Given the description of an element on the screen output the (x, y) to click on. 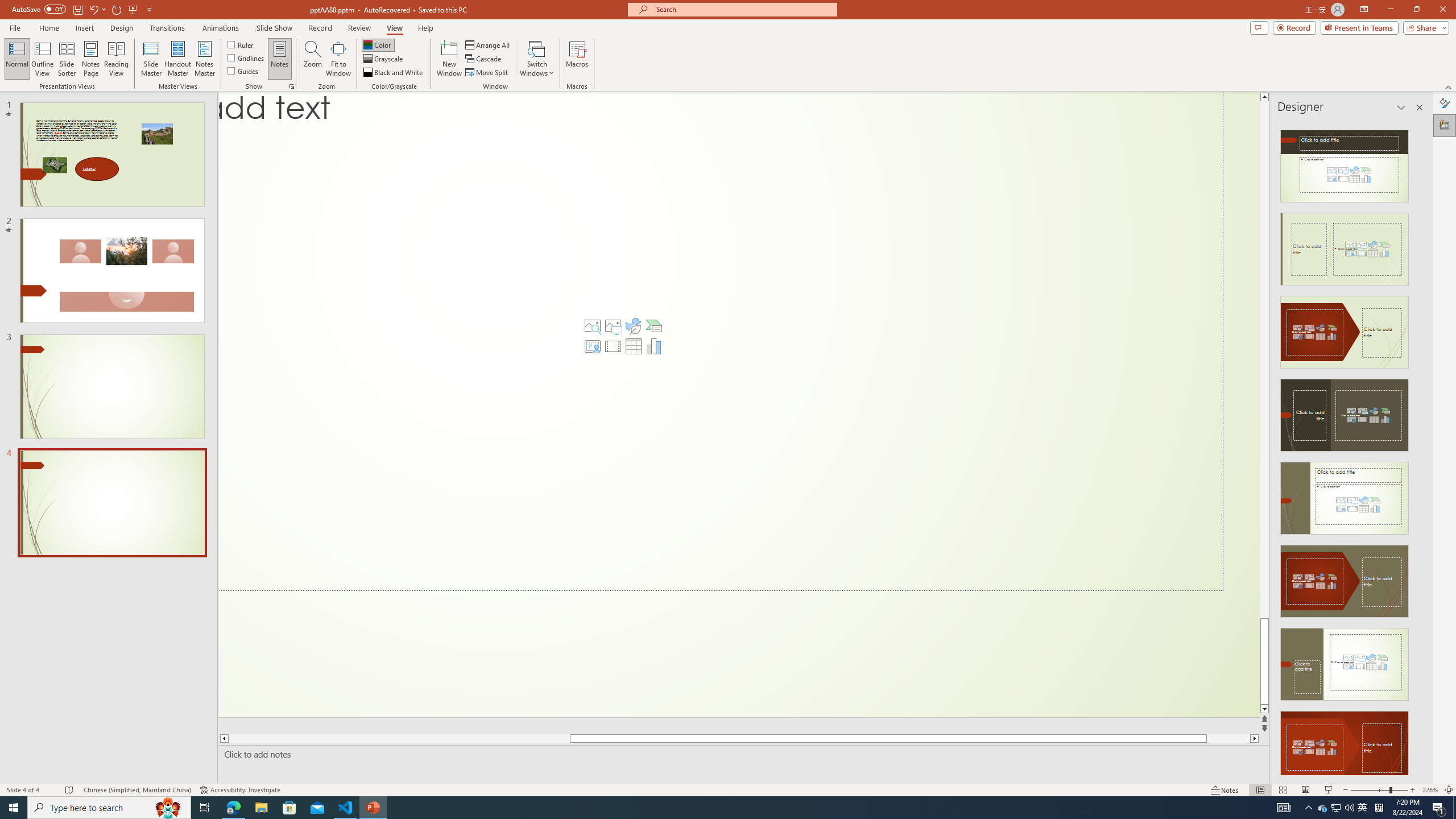
Ruler (241, 44)
Notes Page (90, 58)
Cascade (484, 58)
